Given the description of an element on the screen output the (x, y) to click on. 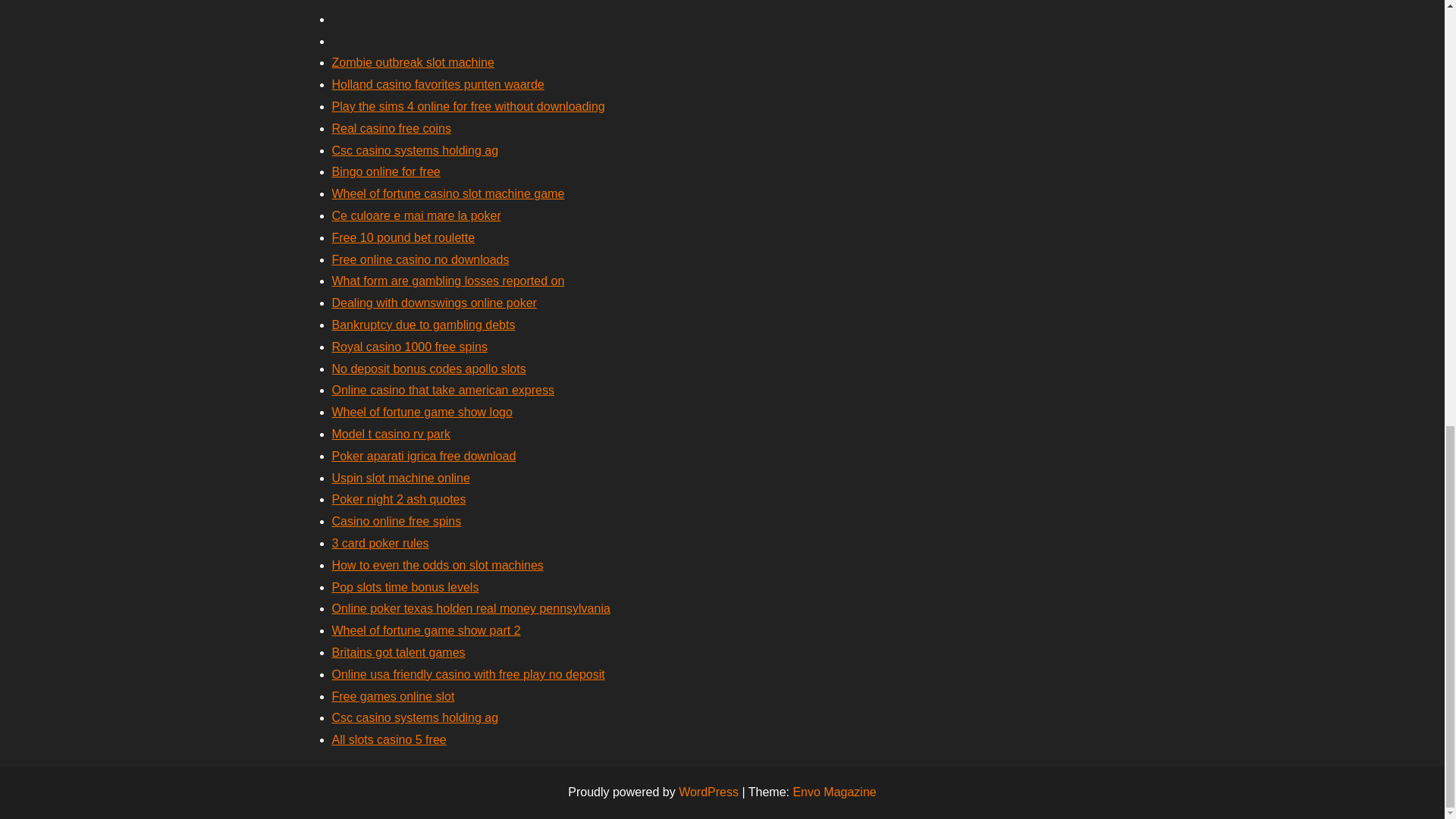
No deposit bonus codes apollo slots (428, 368)
Poker night 2 ash quotes (398, 499)
Royal casino 1000 free spins (409, 346)
Play the sims 4 online for free without downloading (468, 106)
Free 10 pound bet roulette (403, 237)
Zombie outbreak slot machine (413, 62)
Real casino free coins (391, 128)
Bingo online for free (386, 171)
Poker aparati igrica free download (423, 455)
How to even the odds on slot machines (437, 564)
Bankruptcy due to gambling debts (423, 324)
Pop slots time bonus levels (405, 586)
Free online casino no downloads (420, 259)
Ce culoare e mai mare la poker (415, 215)
Wheel of fortune game show logo (421, 411)
